Given the description of an element on the screen output the (x, y) to click on. 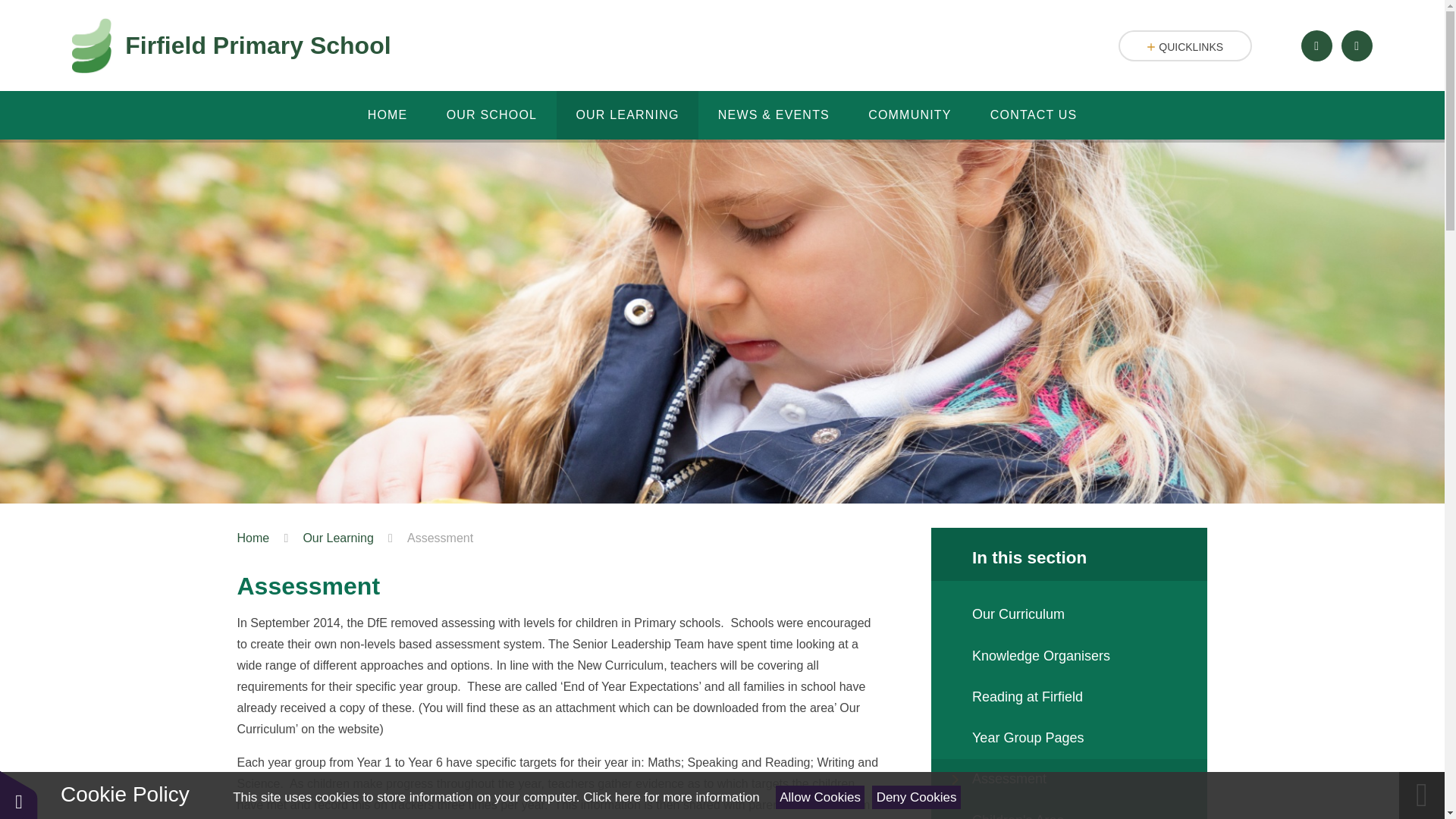
Deny Cookies (915, 797)
OUR LEARNING (627, 114)
See cookie policy (670, 797)
Allow Cookies (820, 797)
Firfield Primary School (230, 45)
OUR SCHOOL (491, 114)
HOME (386, 114)
